Given the description of an element on the screen output the (x, y) to click on. 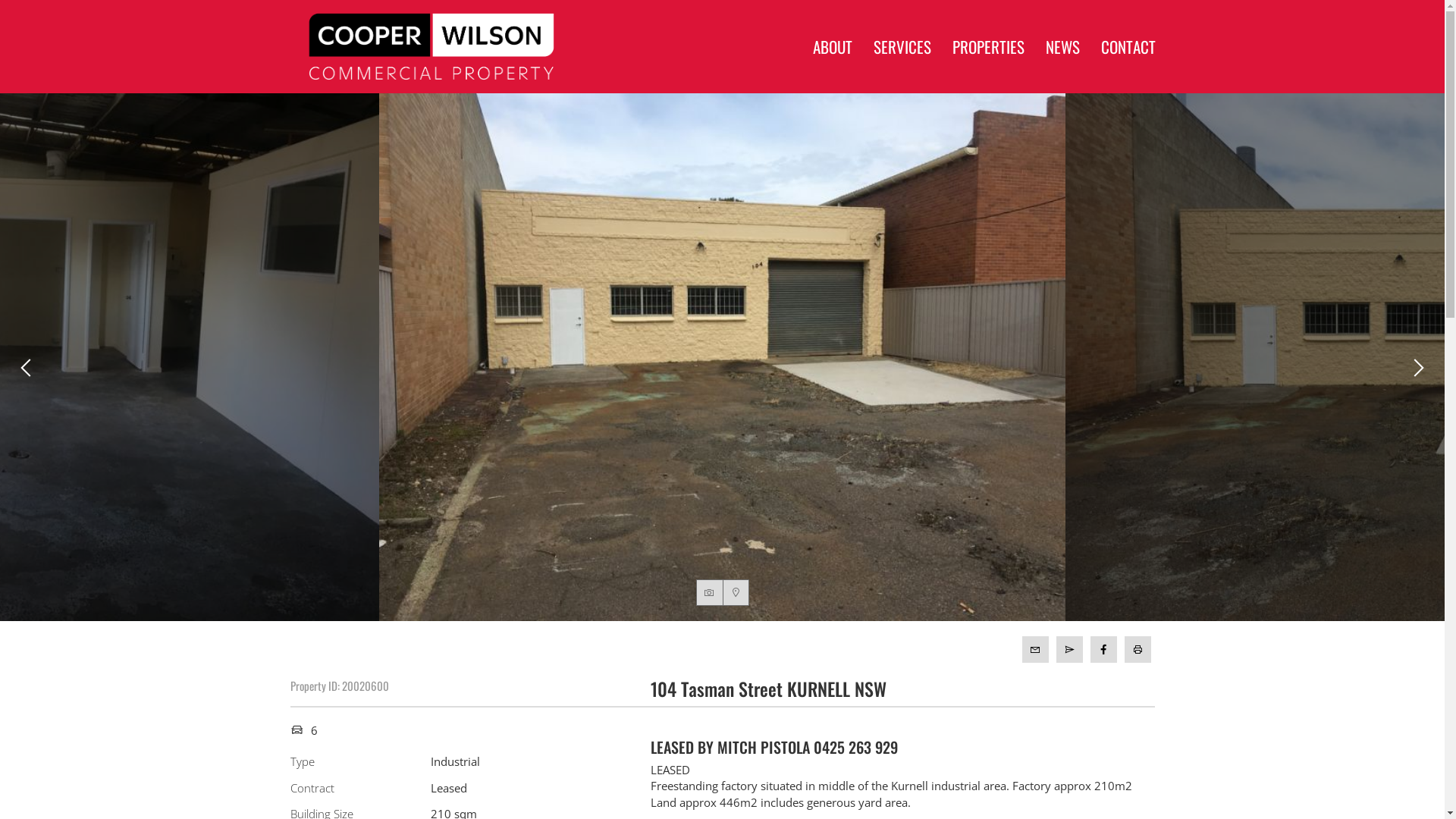
Email to Friend Element type: hover (1068, 649)
PROPERTIES Element type: text (988, 46)
CONTACT Element type: text (1128, 46)
SERVICES Element type: text (901, 46)
ABOUT Element type: text (832, 46)
Email to Agent Element type: hover (1035, 649)
NEWS Element type: text (1061, 46)
